Given the description of an element on the screen output the (x, y) to click on. 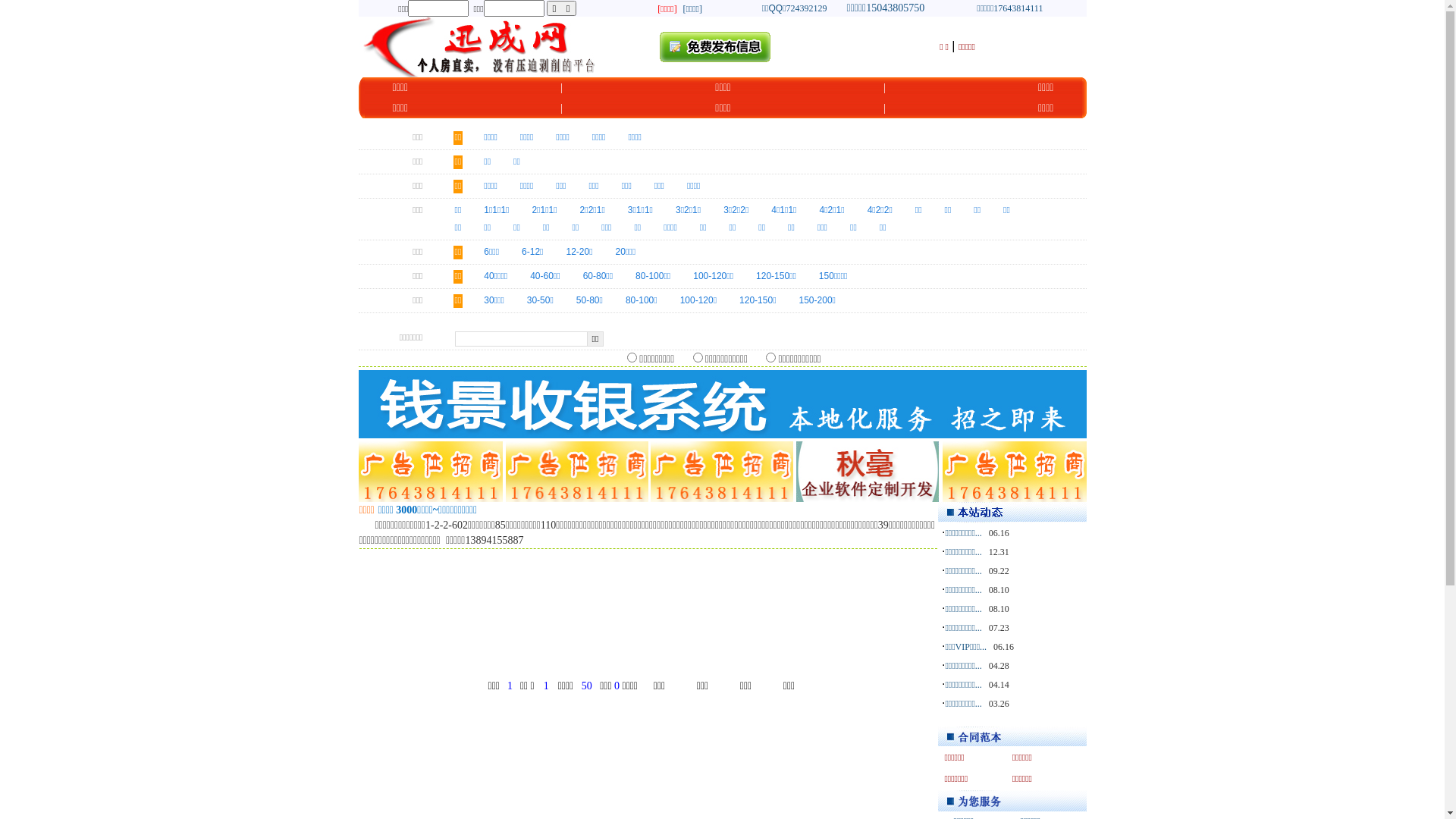
cb_f3 Element type: text (770, 357)
cb_f2 Element type: text (632, 357)
cb_f1 Element type: text (697, 357)
